Given the description of an element on the screen output the (x, y) to click on. 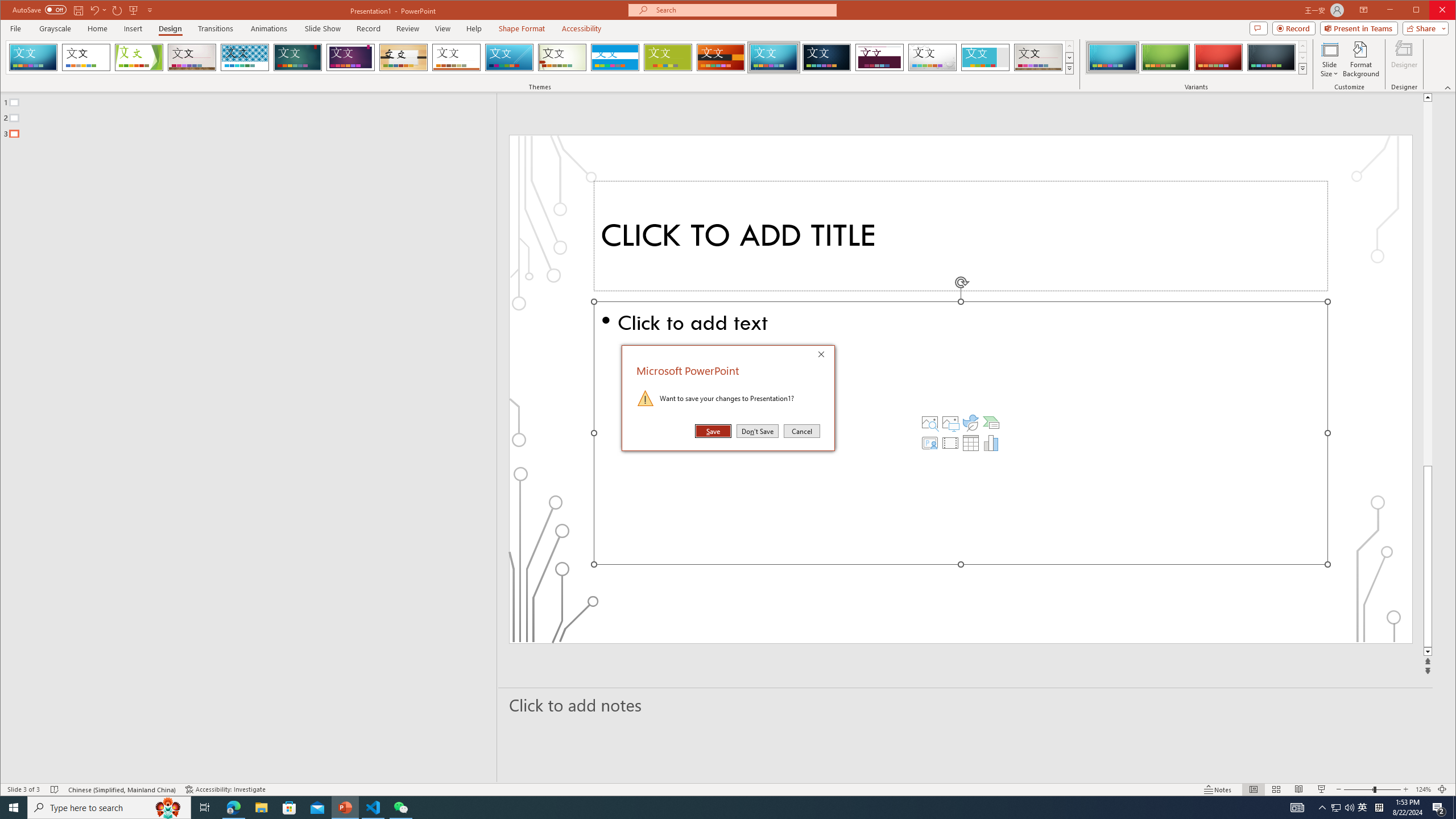
Slide Notes (965, 704)
Page up (1427, 283)
Slide Size (1328, 59)
Microsoft Store (289, 807)
Retrospect (456, 57)
Variants (1302, 68)
AutomationID: ThemeVariantsGallery (1196, 57)
Droplet (932, 57)
Stock Images (929, 422)
Insert Video (949, 443)
Outline (252, 115)
